Given the description of an element on the screen output the (x, y) to click on. 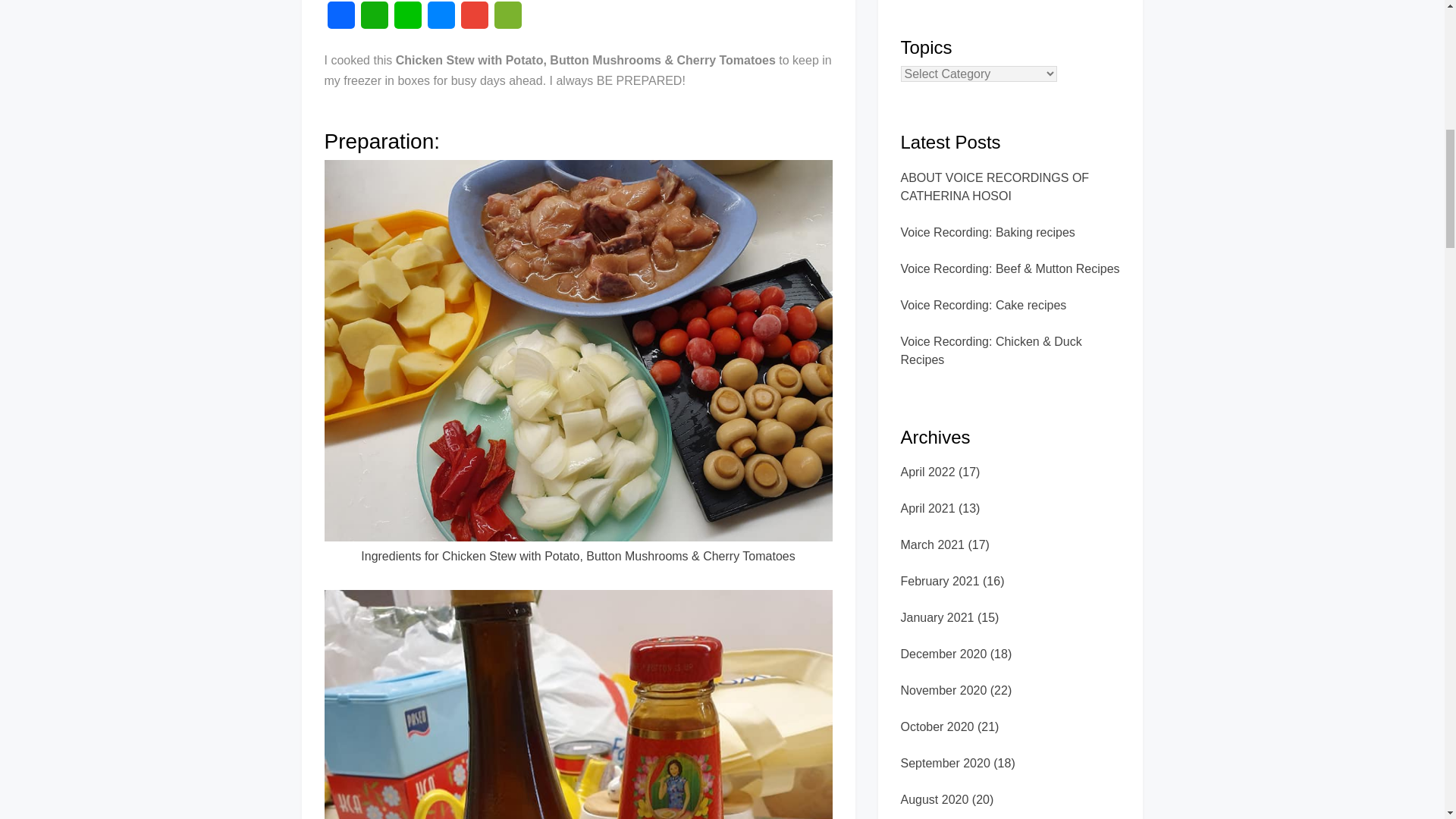
WhatsApp (374, 19)
Line (408, 19)
WeChat (508, 19)
Facebook (341, 19)
Messenger (441, 19)
Gmail (475, 19)
Messenger (441, 19)
Gmail (475, 19)
Facebook (341, 19)
WhatsApp (374, 19)
